Given the description of an element on the screen output the (x, y) to click on. 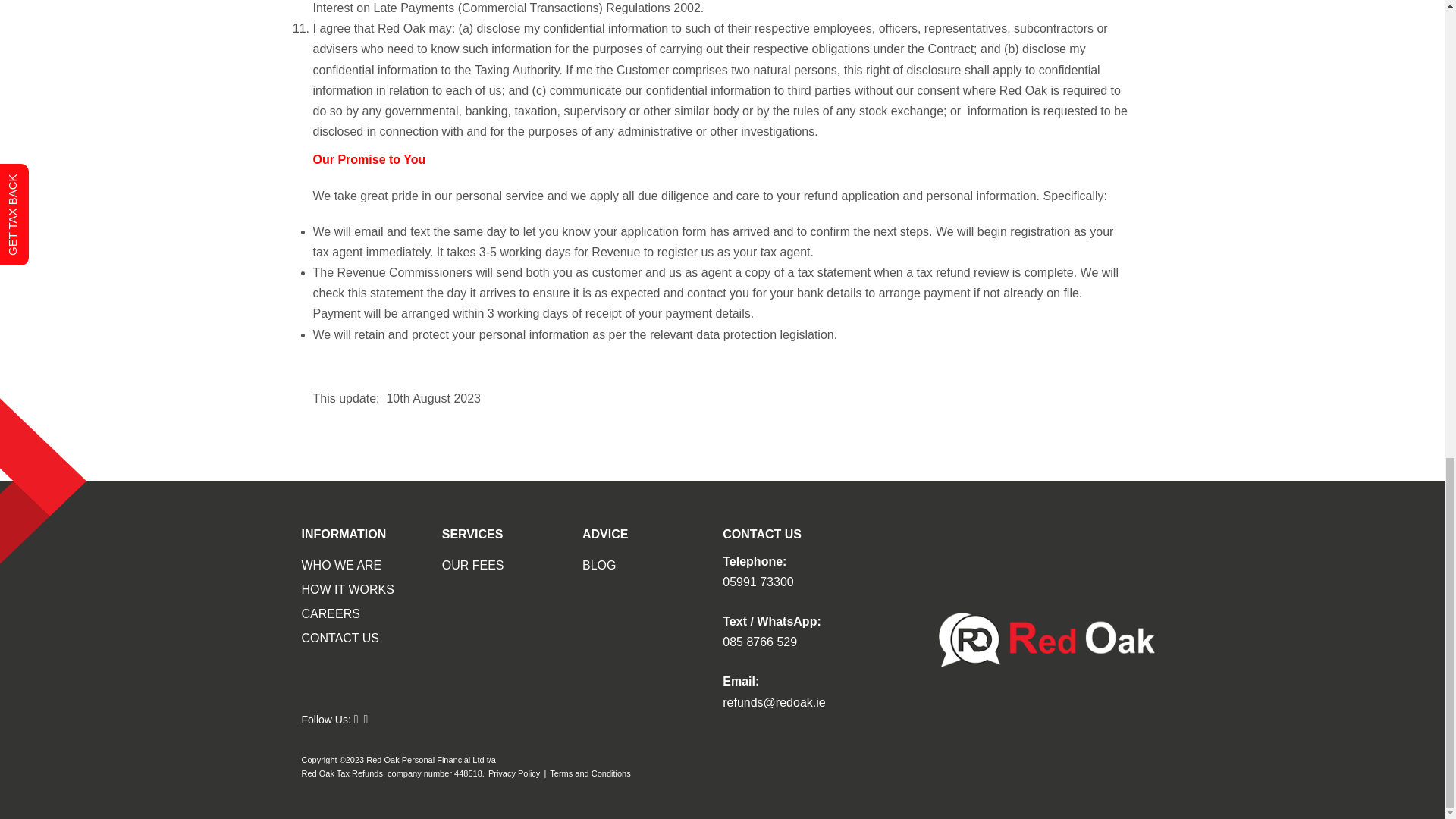
CAREERS (330, 613)
05991 73300 (757, 581)
Privacy Policy (513, 773)
WHO WE ARE (341, 565)
CONTACT US (340, 638)
BLOG (598, 565)
Terms and Conditions (589, 773)
085 8766 529 (759, 641)
HOW IT WORKS (347, 589)
OUR FEES (472, 565)
